Given the description of an element on the screen output the (x, y) to click on. 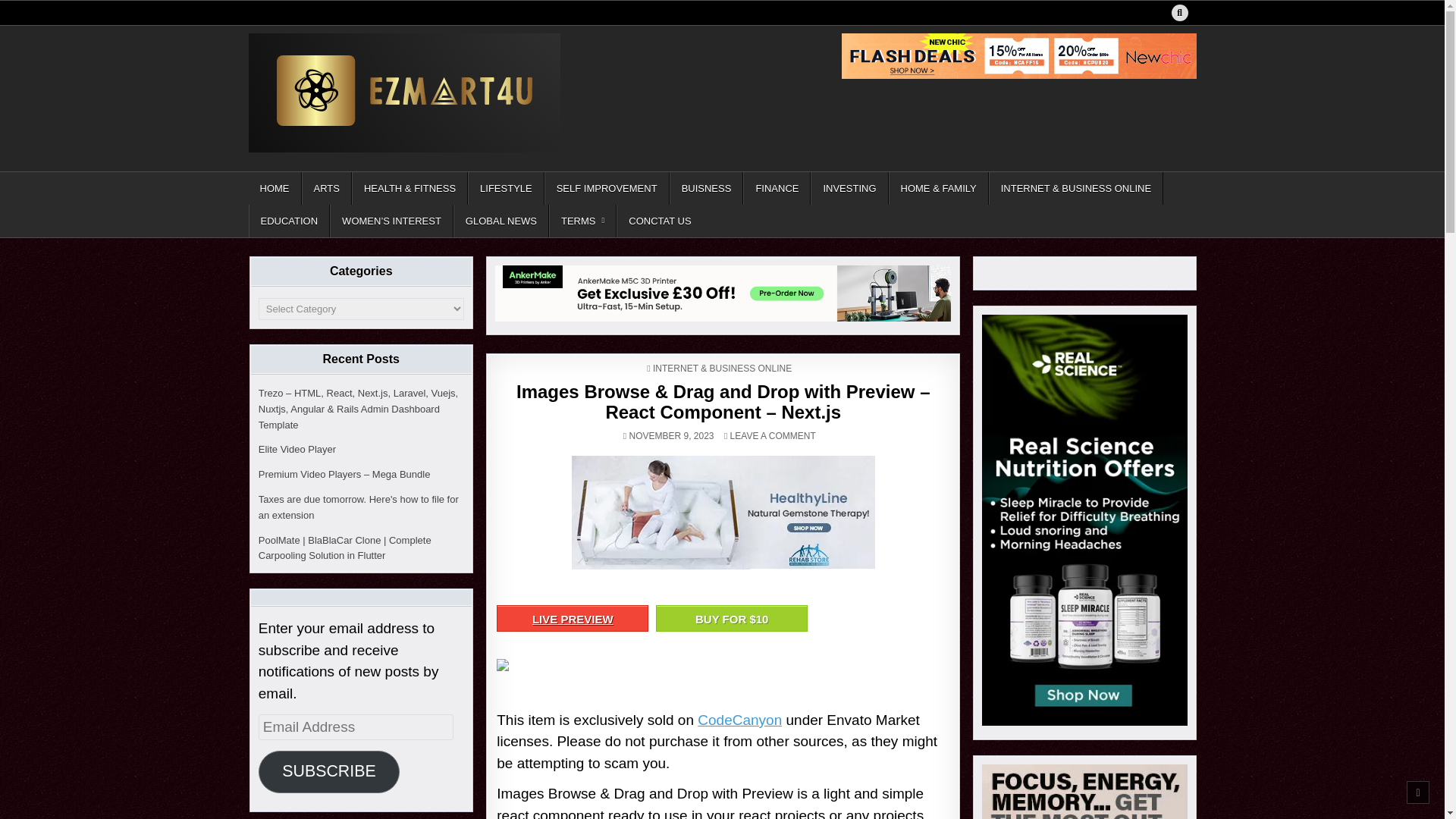
HOME (274, 187)
SCROLL TO TOP (1417, 792)
BUISNESS (706, 187)
GLOBAL NEWS (500, 220)
LIFESTYLE (505, 187)
CONCTAT US (658, 220)
FINANCE (776, 187)
ARTS (326, 187)
SELF IMPROVEMENT (606, 187)
Scroll to Top (1417, 792)
